Given the description of an element on the screen output the (x, y) to click on. 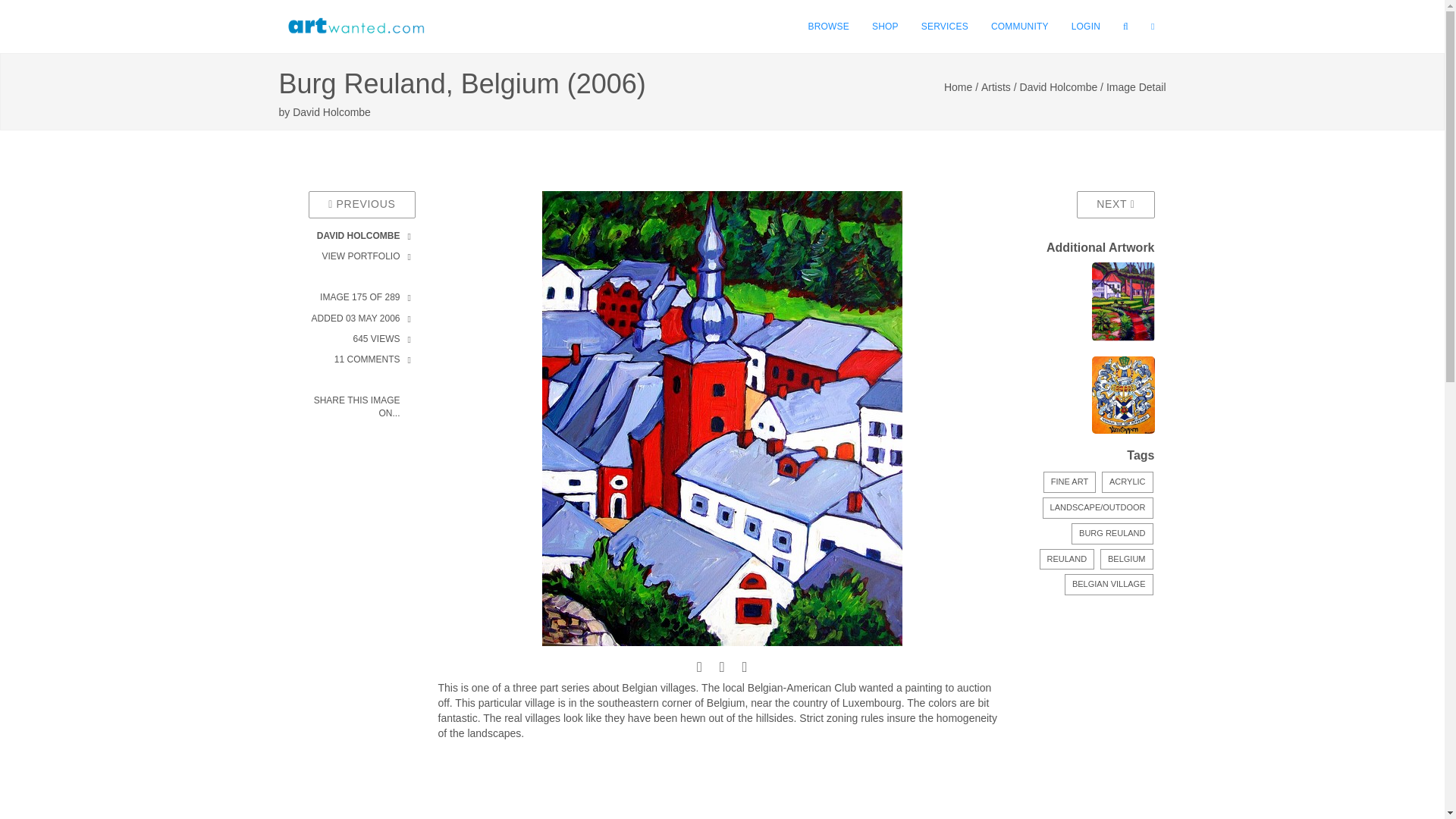
David Holcombe (331, 111)
BROWSE (828, 26)
SERVICES (944, 26)
SHOP (885, 26)
LOGIN (1085, 26)
COMMUNITY (1019, 26)
